Given the description of an element on the screen output the (x, y) to click on. 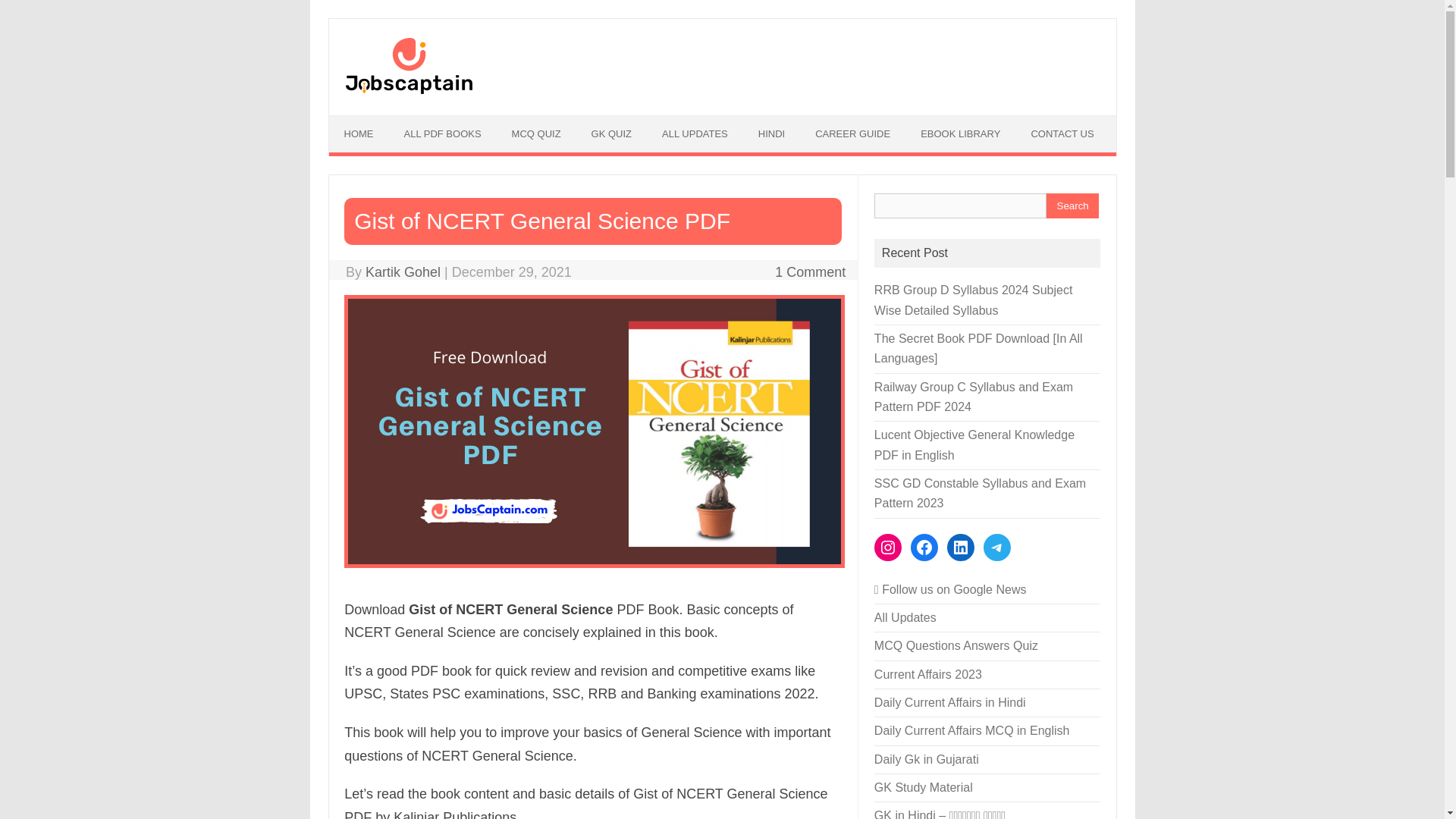
Posts by Kartik Gohel (403, 272)
Jobs Captain (408, 92)
HINDI (770, 134)
ALL PDF BOOKS (442, 134)
GK QUIZ (611, 134)
Kartik Gohel (403, 272)
MCQ QUIZ (536, 134)
CONTACT US (1061, 134)
ALL UPDATES (694, 134)
CAREER GUIDE (852, 134)
